Given the description of an element on the screen output the (x, y) to click on. 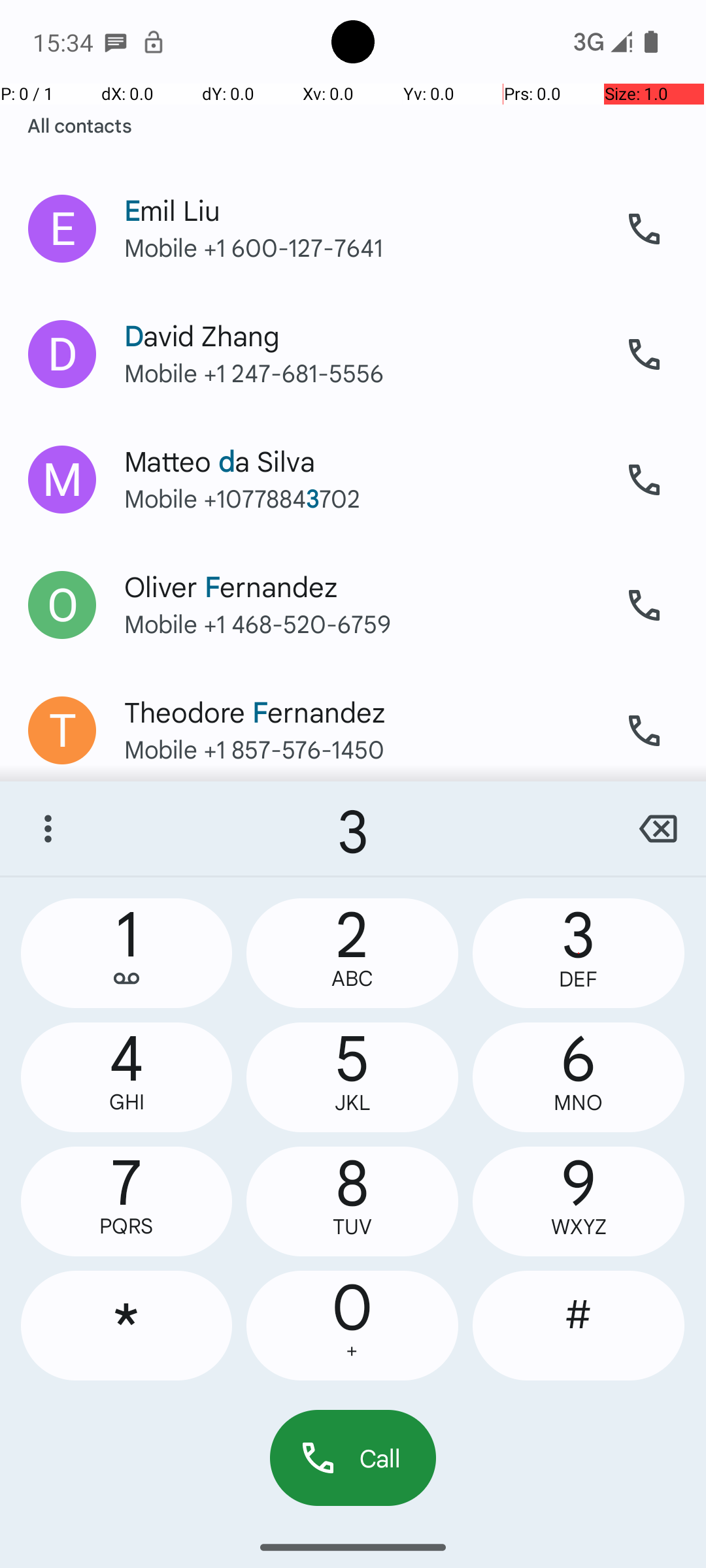
All contacts Element type: android.widget.TextView (79, 124)
Quick contact for Emil Liu Element type: android.widget.QuickContactBadge (62, 228)
Emil Liu Element type: android.widget.TextView (360, 197)
Mobile ‪+1 600-127-7641‬ Element type: android.widget.TextView (360, 260)
Quick contact for David Zhang Element type: android.widget.QuickContactBadge (62, 353)
David Zhang Element type: android.widget.TextView (360, 322)
Mobile ‪+1 247-681-5556‬ Element type: android.widget.TextView (360, 385)
Quick contact for Matteo da Silva Element type: android.widget.QuickContactBadge (62, 479)
Matteo da Silva Element type: android.widget.TextView (360, 448)
Mobile ‪+10778843702‬ Element type: android.widget.TextView (360, 511)
Quick contact for Oliver Fernandez Element type: android.widget.QuickContactBadge (62, 604)
Oliver Fernandez Element type: android.widget.TextView (360, 573)
Mobile ‪+1 468-520-6759‬ Element type: android.widget.TextView (360, 636)
Quick contact for Theodore Fernandez Element type: android.widget.QuickContactBadge (62, 728)
Theodore Fernandez Element type: android.widget.TextView (360, 699)
Mobile ‪+1 857-576-1450‬ Element type: android.widget.TextView (360, 756)
